Given the description of an element on the screen output the (x, y) to click on. 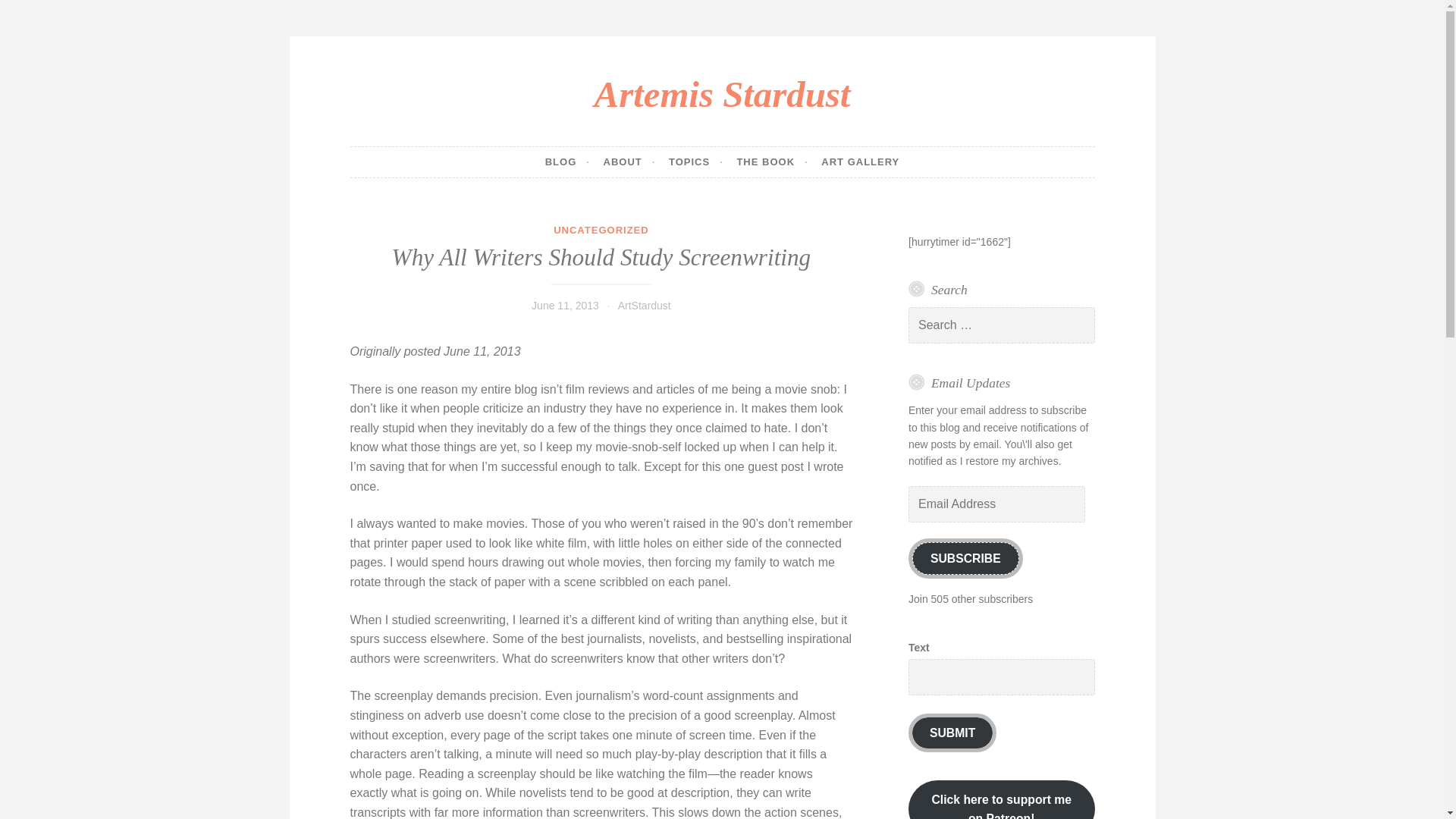
Click here to support me on Patreon! (1001, 799)
ART GALLERY (860, 162)
TOPICS (695, 162)
ABOUT (630, 162)
Search (33, 13)
SUBMIT (952, 732)
THE BOOK (772, 162)
BLOG (566, 162)
ArtStardust (644, 305)
SUBSCRIBE (965, 558)
Artemis Stardust (722, 94)
June 11, 2013 (564, 305)
UNCATEGORIZED (600, 229)
